Given the description of an element on the screen output the (x, y) to click on. 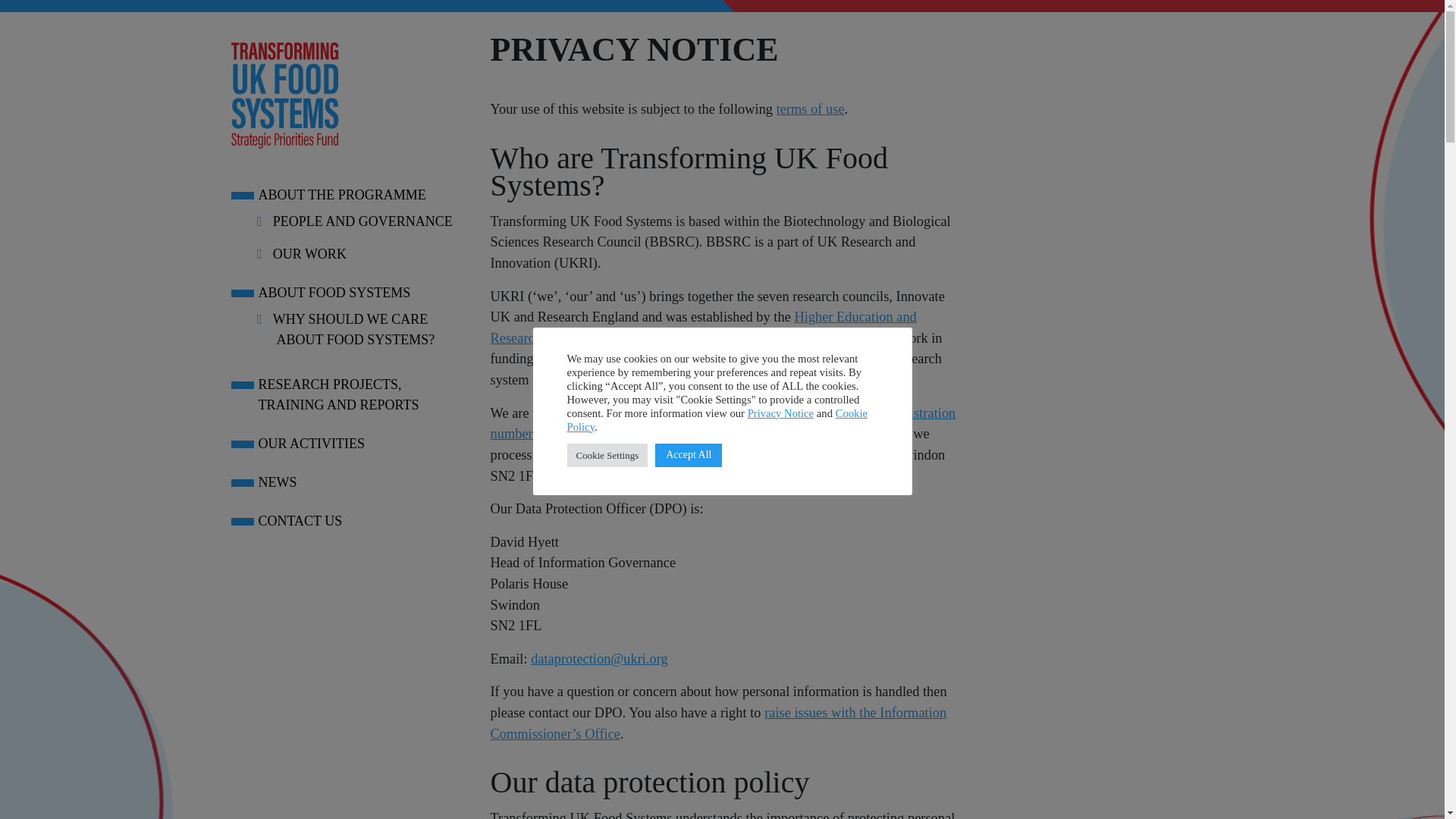
CONTACT US (360, 521)
ABOUT THE PROGRAMME (360, 195)
Privacy Notice (780, 412)
Accept All (688, 454)
OUR ACTIVITIES (360, 444)
Cookie Policy (717, 419)
PEOPLE AND GOVERNANCE (357, 221)
NEWS (360, 482)
ABOUT FOOD SYSTEMS (360, 292)
WHY SHOULD WE CARE ABOUT FOOD SYSTEMS? (357, 329)
